Given the description of an element on the screen output the (x, y) to click on. 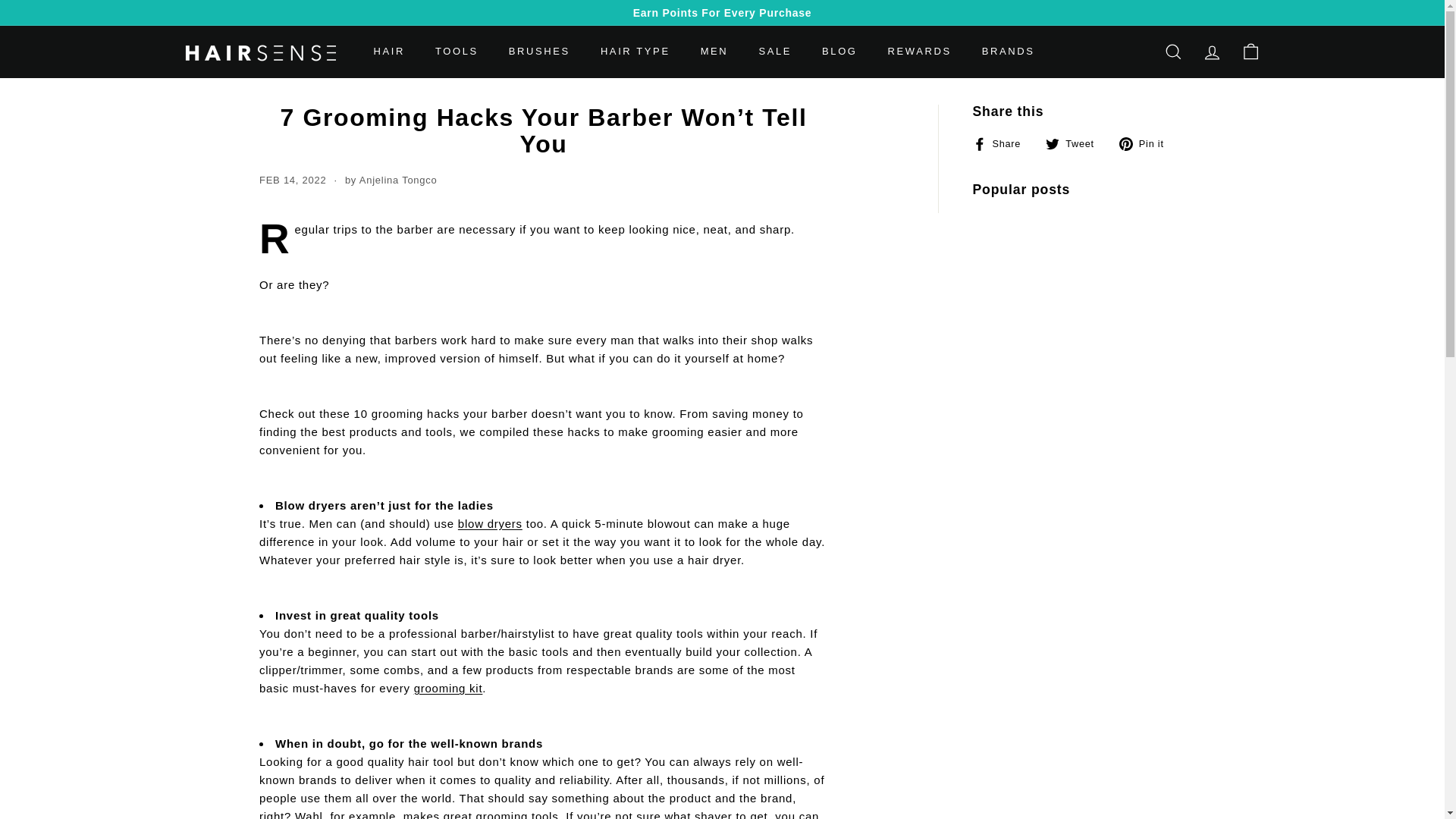
Pin on Pinterest (1146, 143)
TOOLS (456, 51)
BRUSHES (539, 51)
REWARDS (919, 51)
SALE (774, 51)
MEN (714, 51)
HAIR TYPE (635, 51)
BLOG (839, 51)
Share on Facebook (1002, 143)
